Given the description of an element on the screen output the (x, y) to click on. 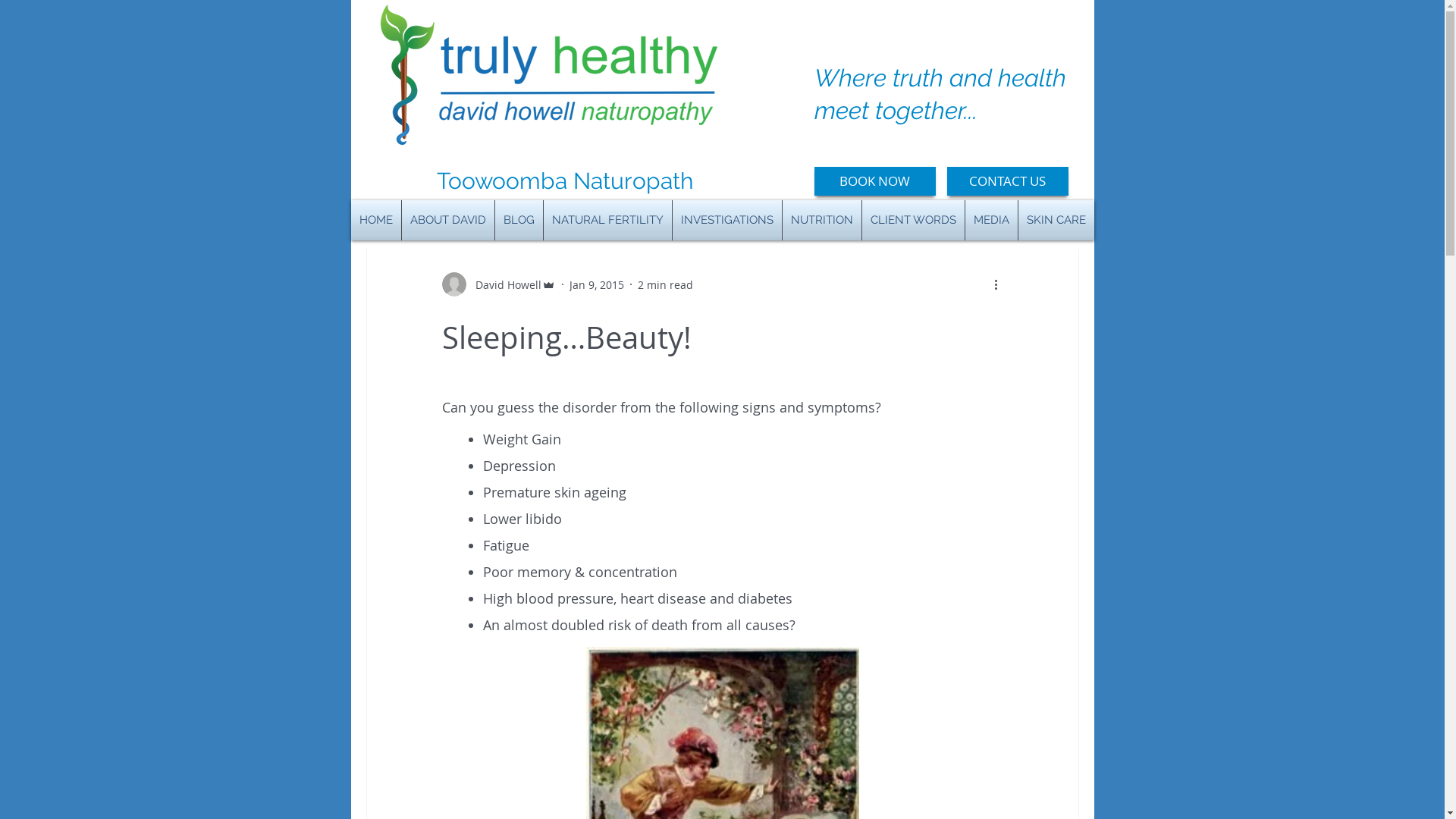
BLOG Element type: text (518, 220)
CLIENT WORDS Element type: text (912, 220)
INVESTIGATIONS Element type: text (726, 220)
David Howell Naturopath Element type: hover (549, 78)
SKIN CARE Element type: text (1055, 220)
NATURAL FERTILITY Element type: text (606, 220)
MEDIA Element type: text (990, 220)
HOME Element type: text (375, 220)
All Posts Element type: text (384, 180)
CONTACT US Element type: text (1006, 180)
NUTRITION Element type: text (821, 220)
BOOK NOW Element type: text (874, 180)
ABOUT DAVID Element type: text (447, 220)
Log in / Sign up Element type: text (1019, 180)
